Given the description of an element on the screen output the (x, y) to click on. 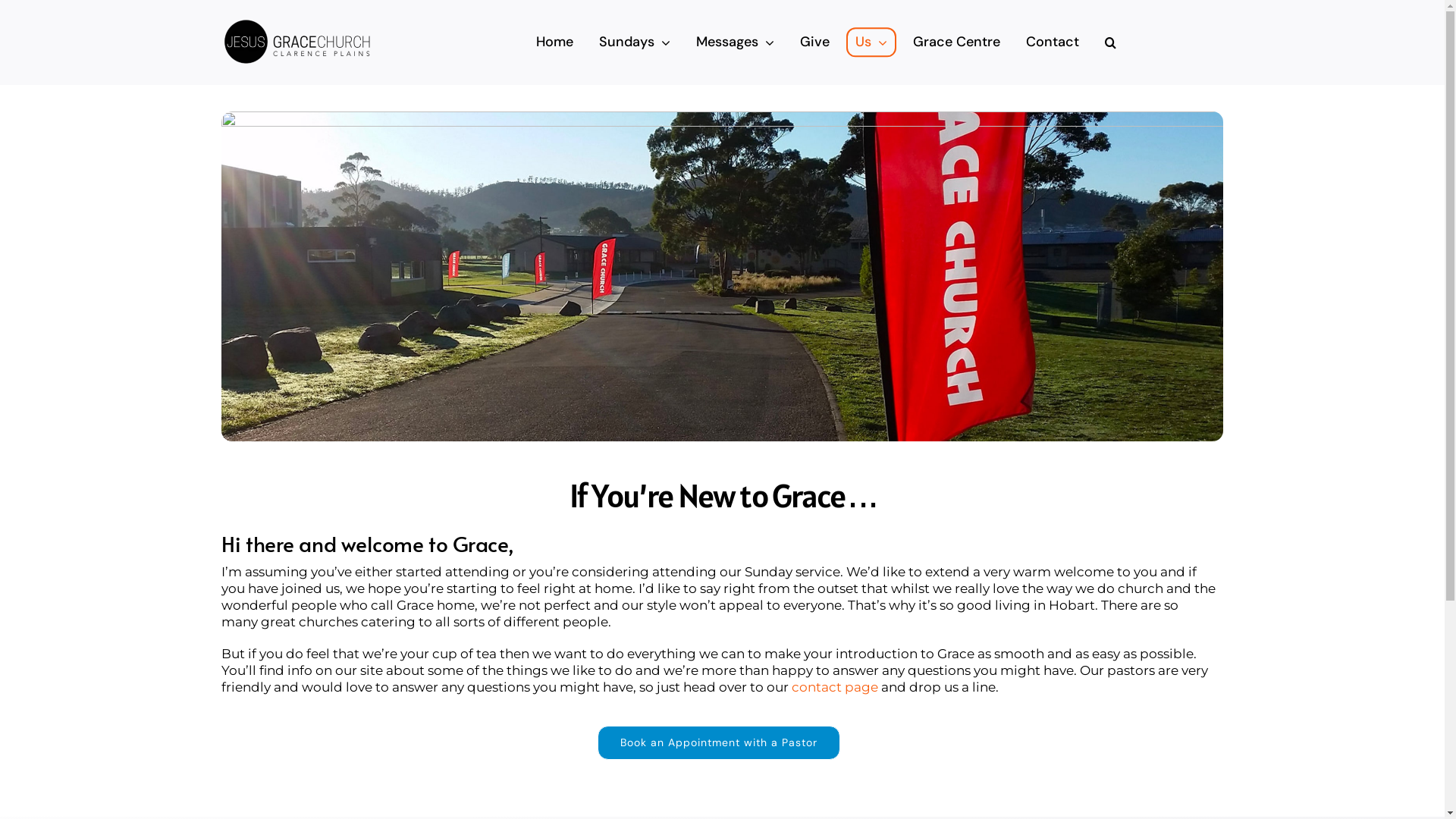
contact page Element type: text (834, 686)
Give Element type: text (814, 41)
Entrance into Grace Element type: hover (721, 276)
Search Element type: hover (1110, 42)
Messages Element type: text (735, 41)
Sundays Element type: text (634, 41)
Contact Element type: text (1052, 41)
Grace Centre Element type: text (956, 41)
Us Element type: text (871, 41)
Book an Appointment with a Pastor Element type: text (718, 742)
Home Element type: text (554, 41)
